Given the description of an element on the screen output the (x, y) to click on. 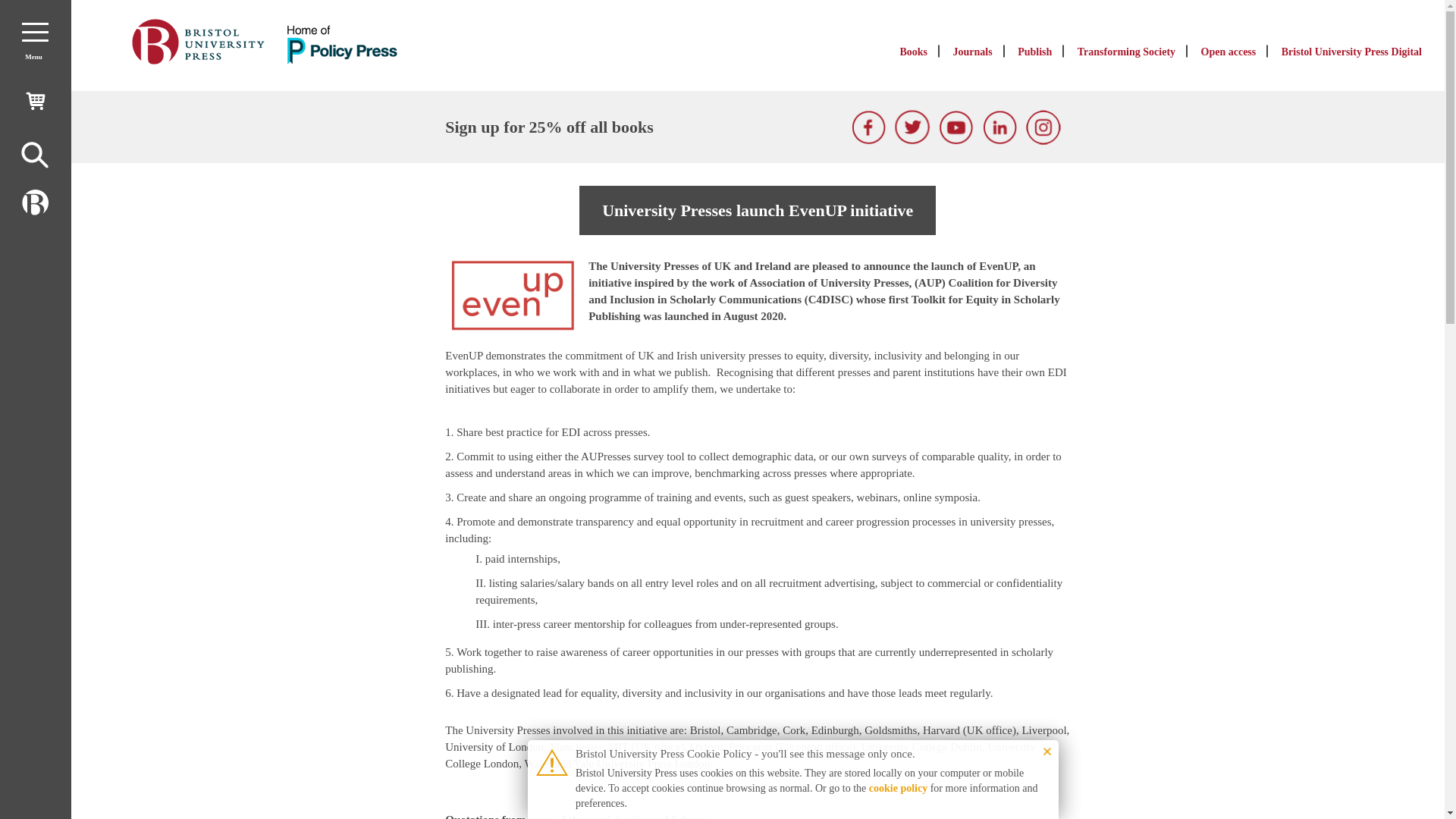
YouTube page (956, 126)
LinkedIn page (999, 126)
Facebook page (868, 126)
Toggle navigation (34, 31)
Instagram page (1043, 126)
Twitter page (912, 126)
Close (1047, 751)
